Given the description of an element on the screen output the (x, y) to click on. 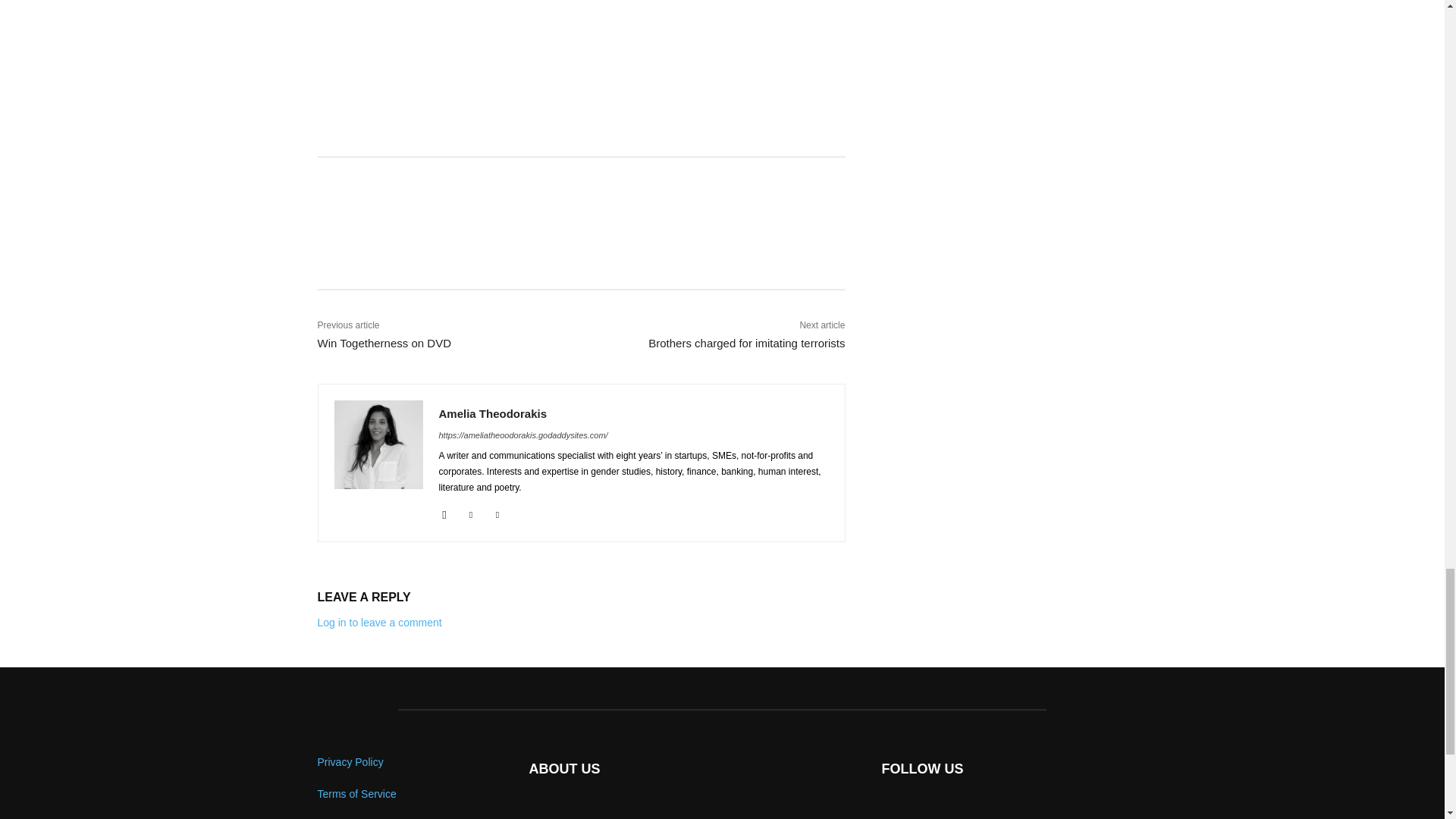
Twitter (497, 511)
Facebook (443, 511)
Linkedin (471, 511)
